Given the description of an element on the screen output the (x, y) to click on. 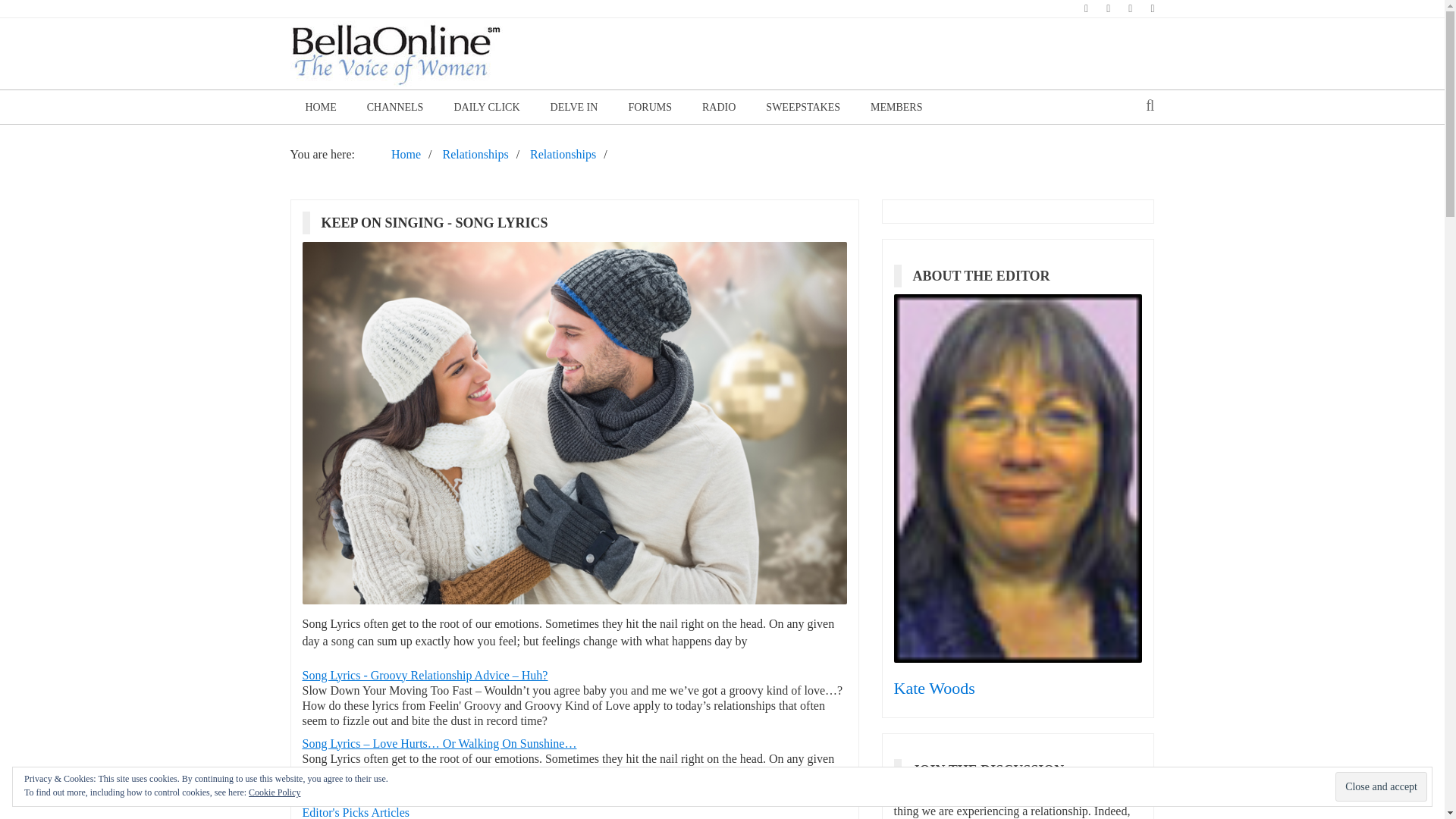
RADIO (719, 107)
Close and accept (1380, 786)
CHANNELS (395, 107)
SWEEPSTAKES (803, 107)
FORUMS (649, 107)
HOME (319, 107)
DAILY CLICK (486, 107)
DELVE IN (573, 107)
